Given the description of an element on the screen output the (x, y) to click on. 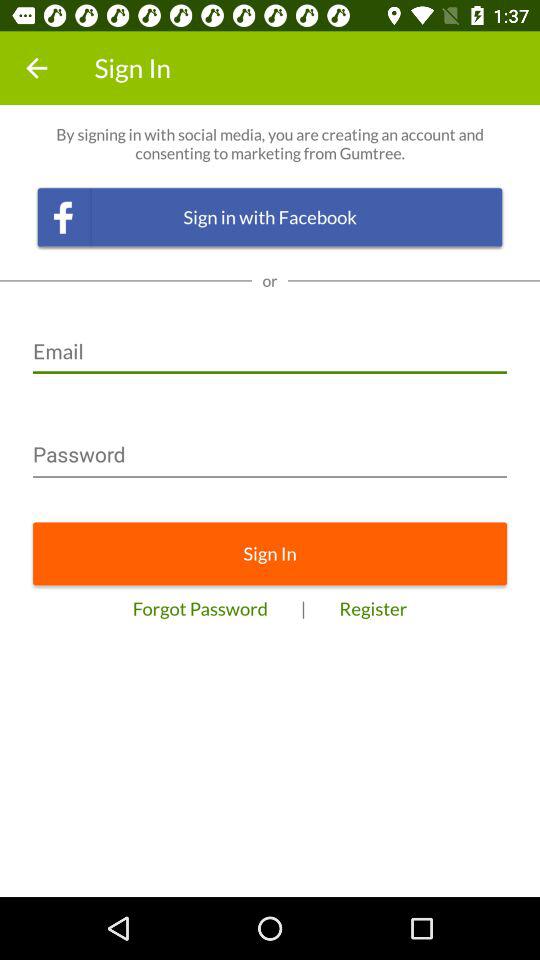
launch icon next to the sign in icon (36, 68)
